Given the description of an element on the screen output the (x, y) to click on. 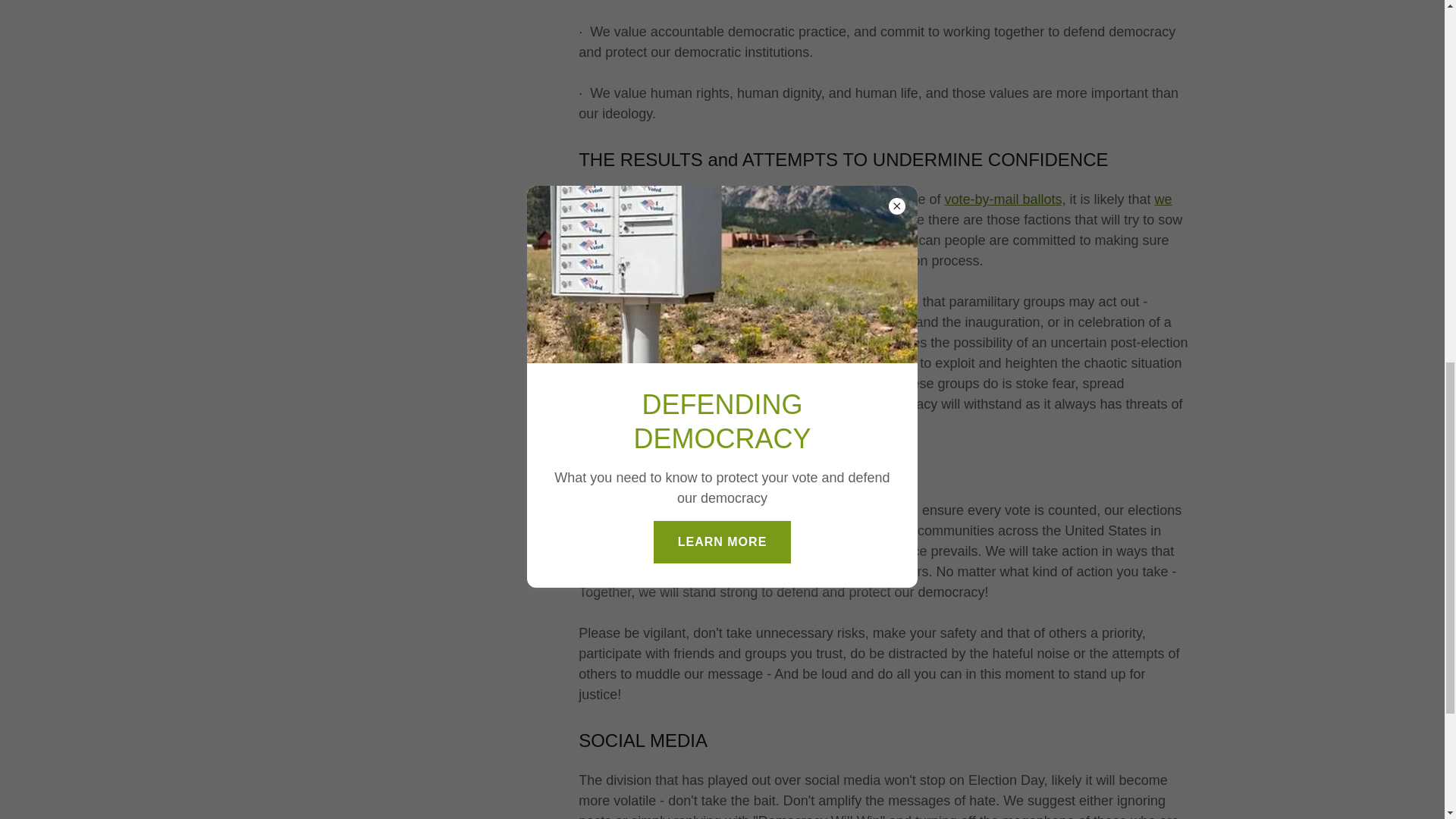
we will not learn election results (875, 209)
vote-by-mail ballots, (1004, 199)
